Given the description of an element on the screen output the (x, y) to click on. 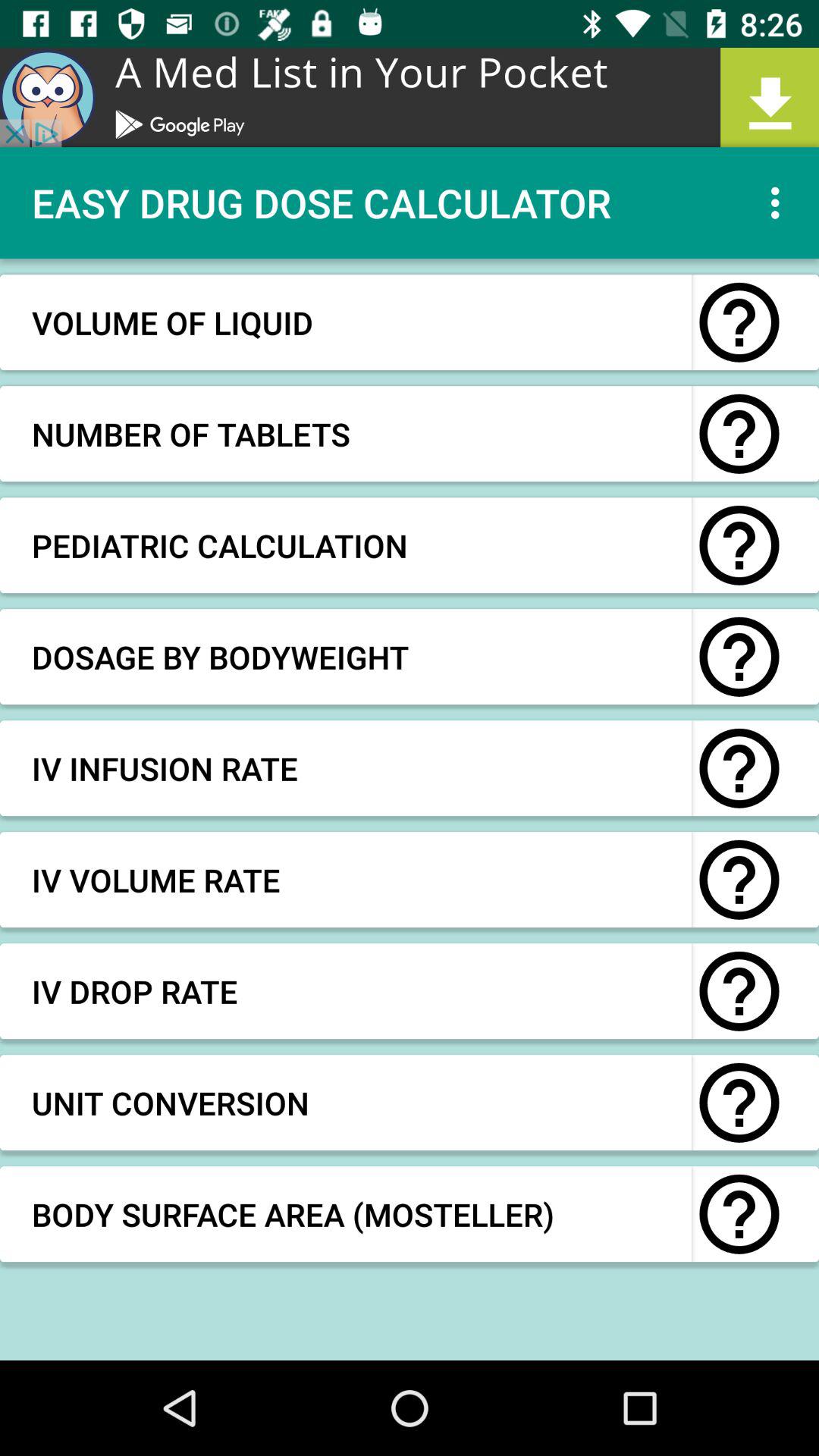
click for more information about iv volume rate (739, 879)
